Given the description of an element on the screen output the (x, y) to click on. 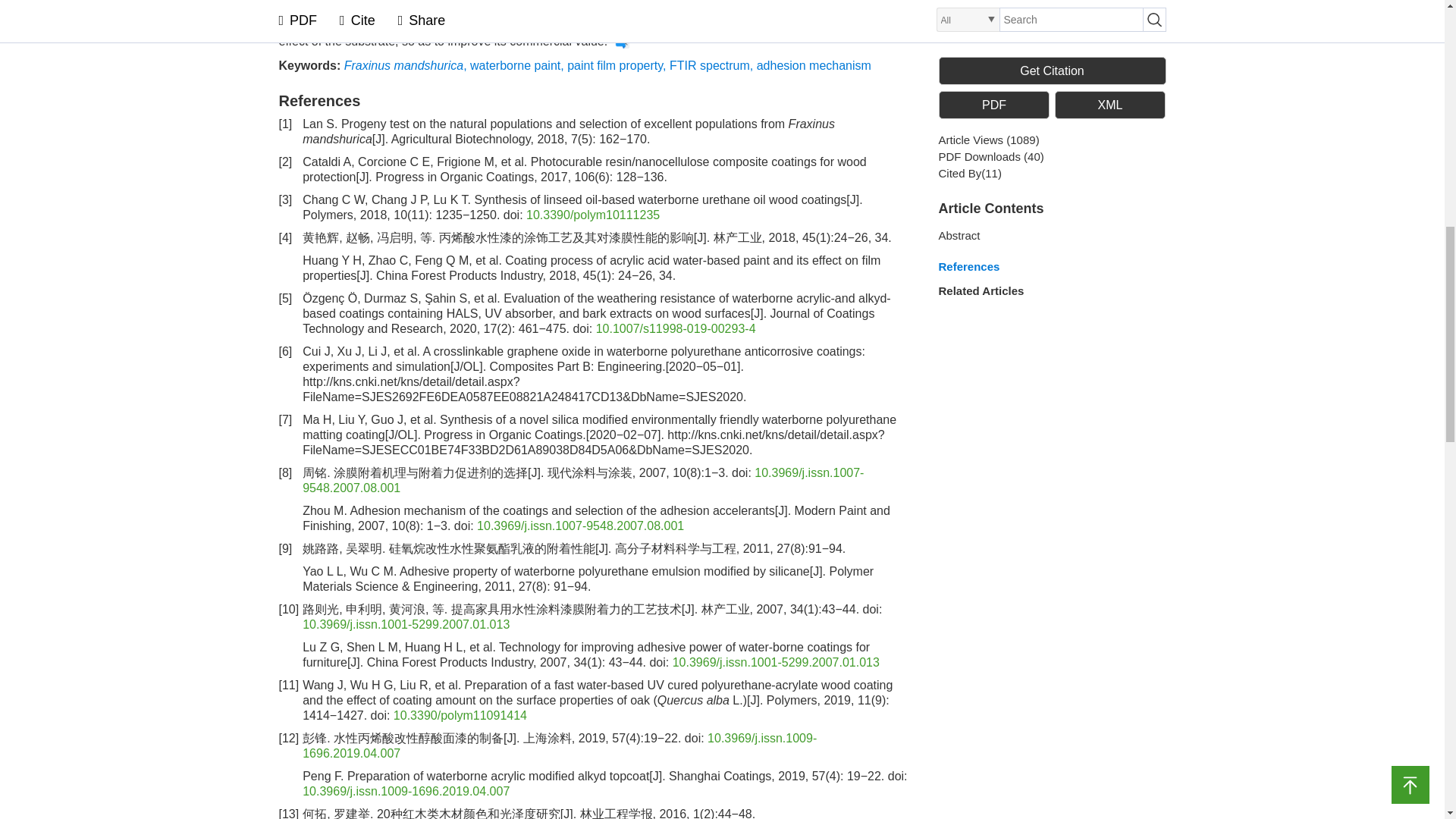
Translate this paragraph (622, 41)
